Given the description of an element on the screen output the (x, y) to click on. 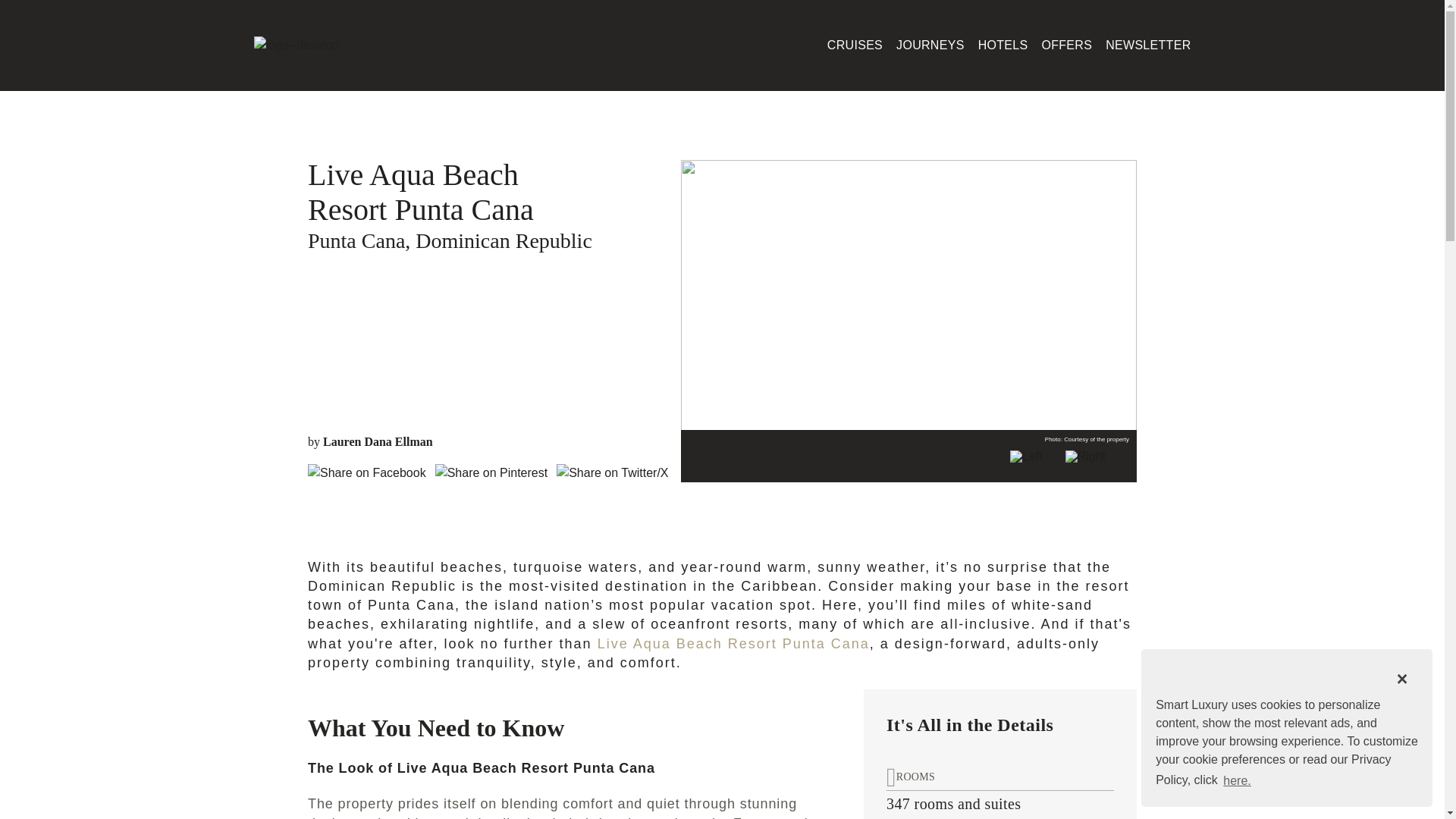
CRUISES (854, 45)
Live Aqua Beach Resort Punta Cana (732, 643)
here. (1237, 780)
JOURNEYS (929, 45)
OFFERS (1066, 45)
HOTELS (1002, 45)
